Given the description of an element on the screen output the (x, y) to click on. 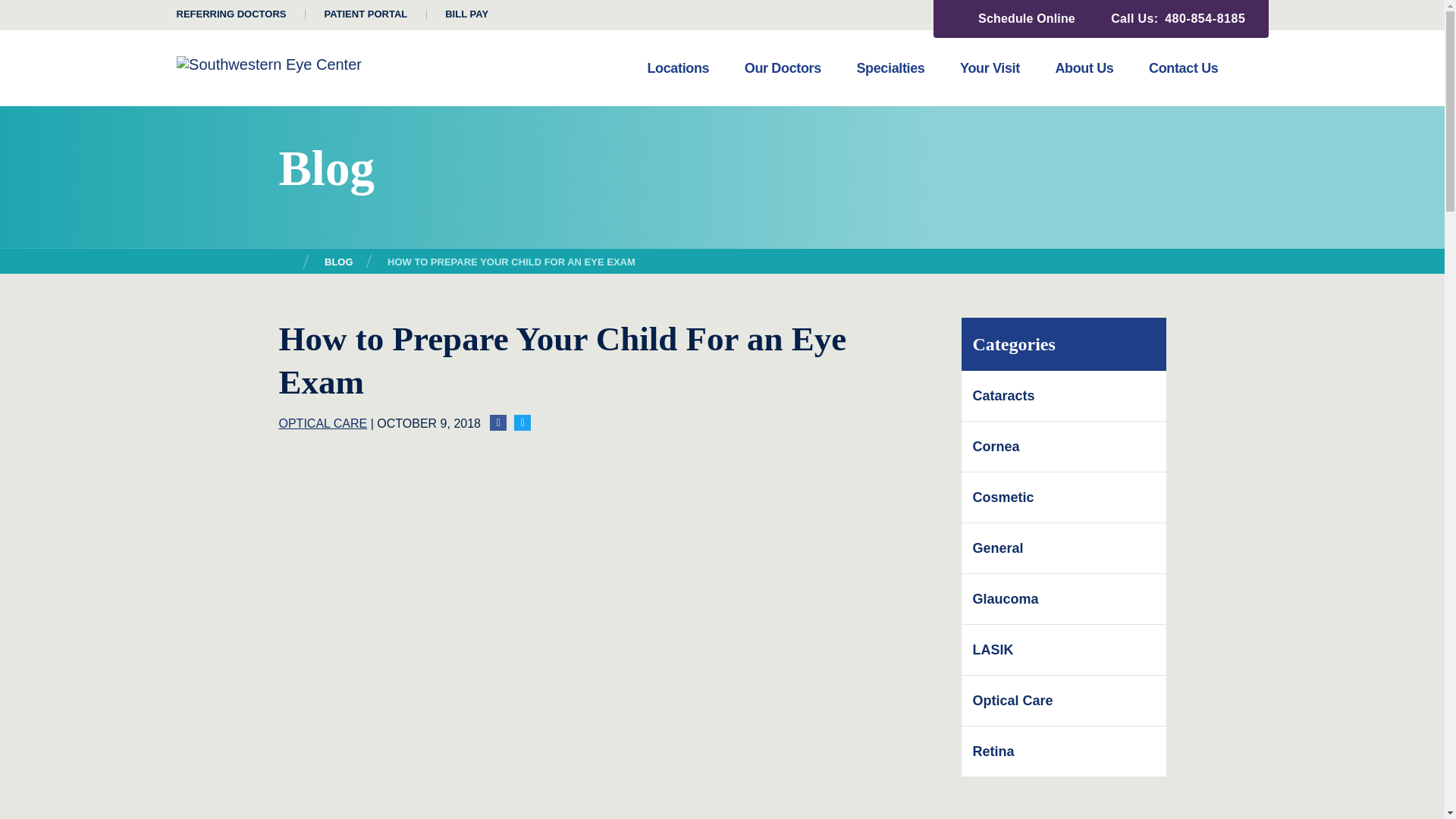
Our Doctors (782, 83)
BILL PAY (466, 14)
REFERRING DOCTORS (230, 14)
480-854-8185 (1204, 18)
Locations (677, 83)
Schedule Online (1015, 18)
PATIENT PORTAL (365, 14)
Specialties (890, 83)
